Given the description of an element on the screen output the (x, y) to click on. 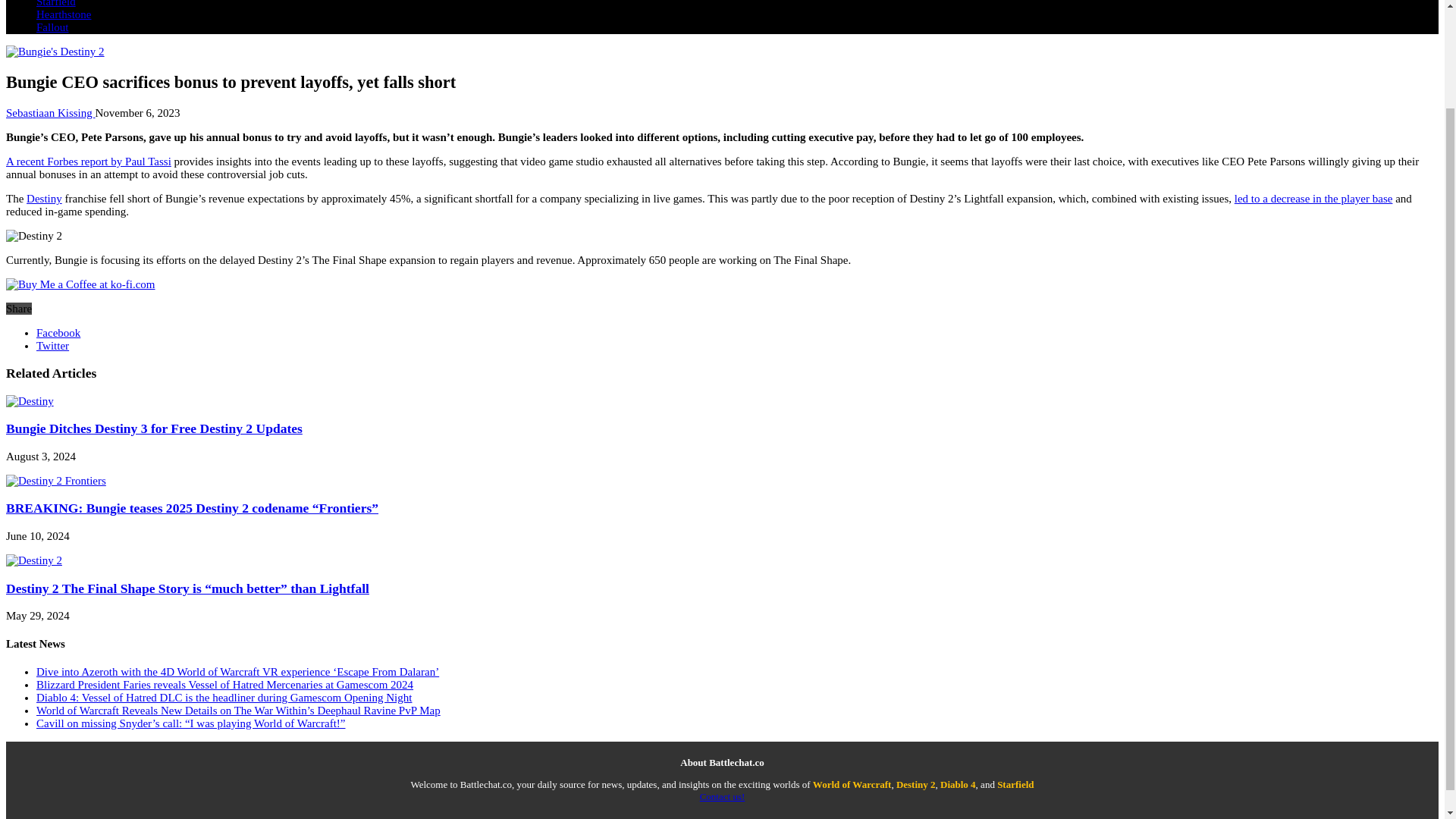
A recent Forbes report by Paul Tassi (88, 161)
Sebastiaan Kissing (50, 112)
Twitter (52, 345)
led to a decrease in the player base (1313, 198)
Fallout (52, 27)
Destiny (44, 198)
Starfield (55, 3)
Hearthstone (63, 14)
